Given the description of an element on the screen output the (x, y) to click on. 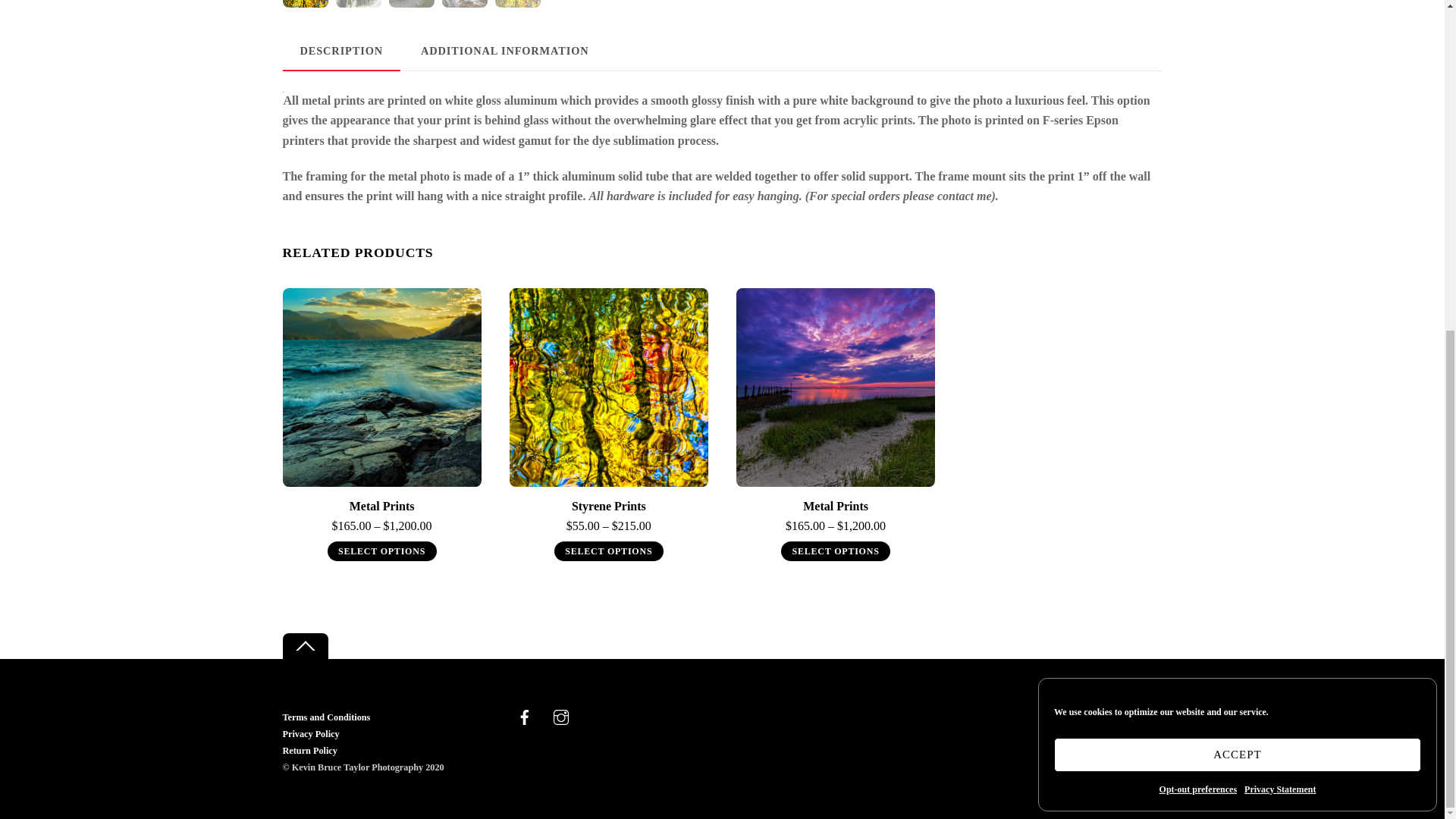
Old Pier (835, 387)
Privacy Statement (1280, 241)
Columbia River Gorge (381, 387)
Reflections of Fall (608, 387)
ACCEPT (1237, 207)
Opt-out preferences (1197, 241)
